Given the description of an element on the screen output the (x, y) to click on. 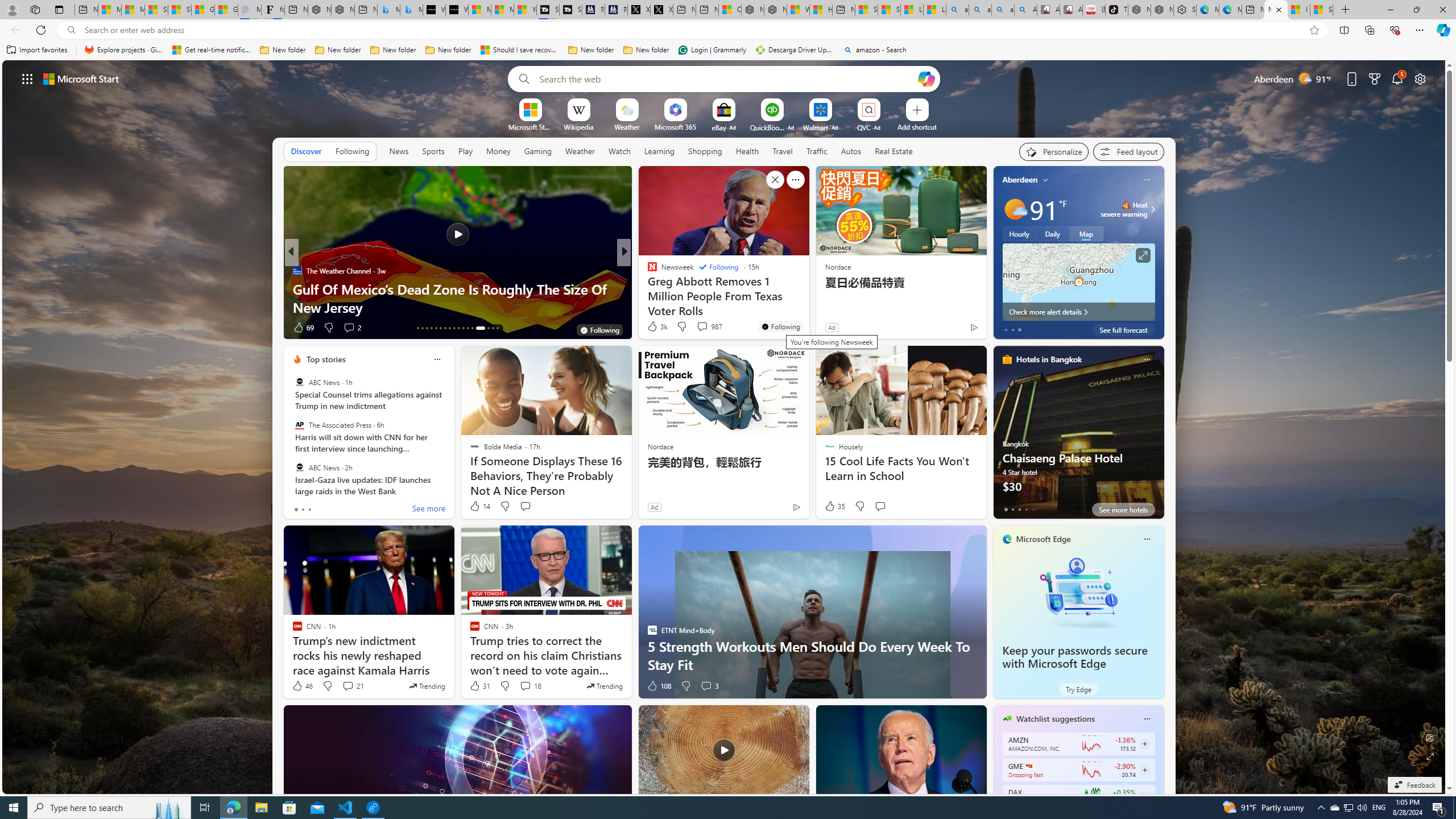
Open Copilot (926, 78)
View comments 22 Comment (6, 327)
Microsoft 365 (675, 126)
Traffic (816, 151)
Class: follow-button  m (1144, 795)
Search icon (70, 29)
Personalize your feed" (1054, 151)
View comments 3 Comment (705, 685)
35 Like (834, 505)
AutomationID: tab-29 (497, 328)
Learning (659, 151)
